Given the description of an element on the screen output the (x, y) to click on. 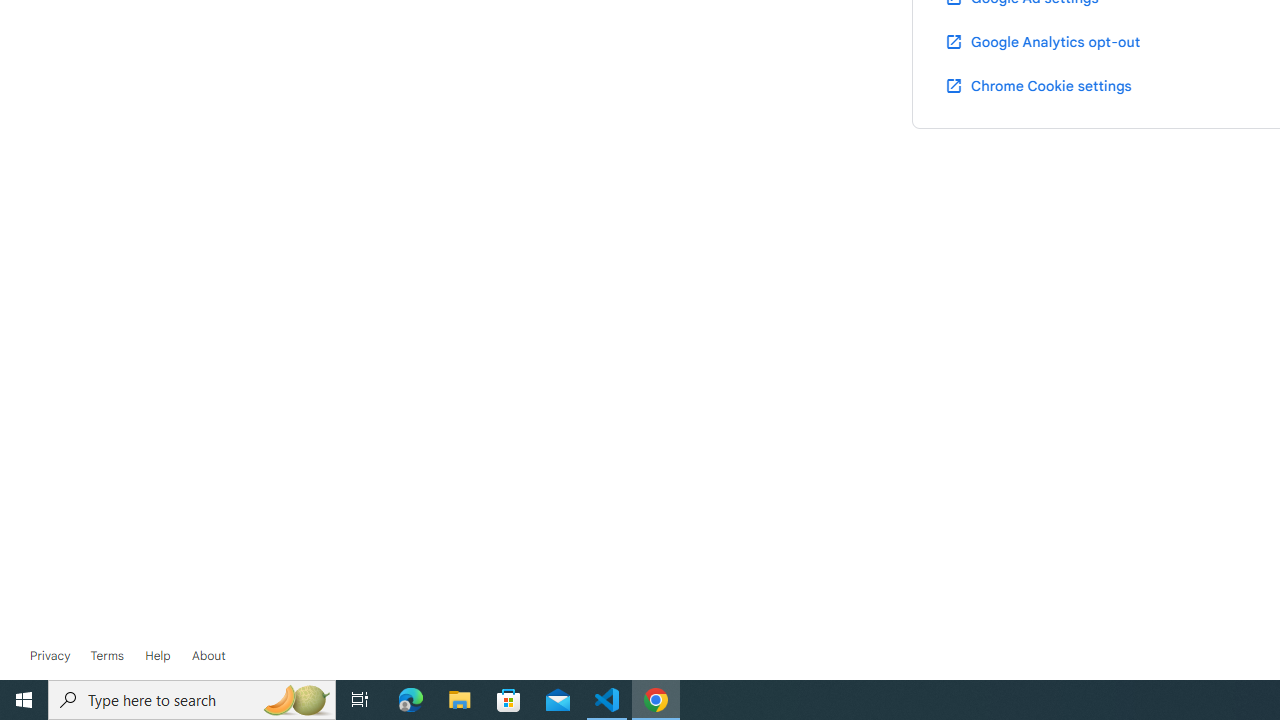
Chrome Cookie settings (1037, 85)
Learn more about Google Account (208, 655)
Google Analytics opt-out (1041, 41)
Privacy (50, 655)
Terms (106, 655)
Help (158, 655)
